Given the description of an element on the screen output the (x, y) to click on. 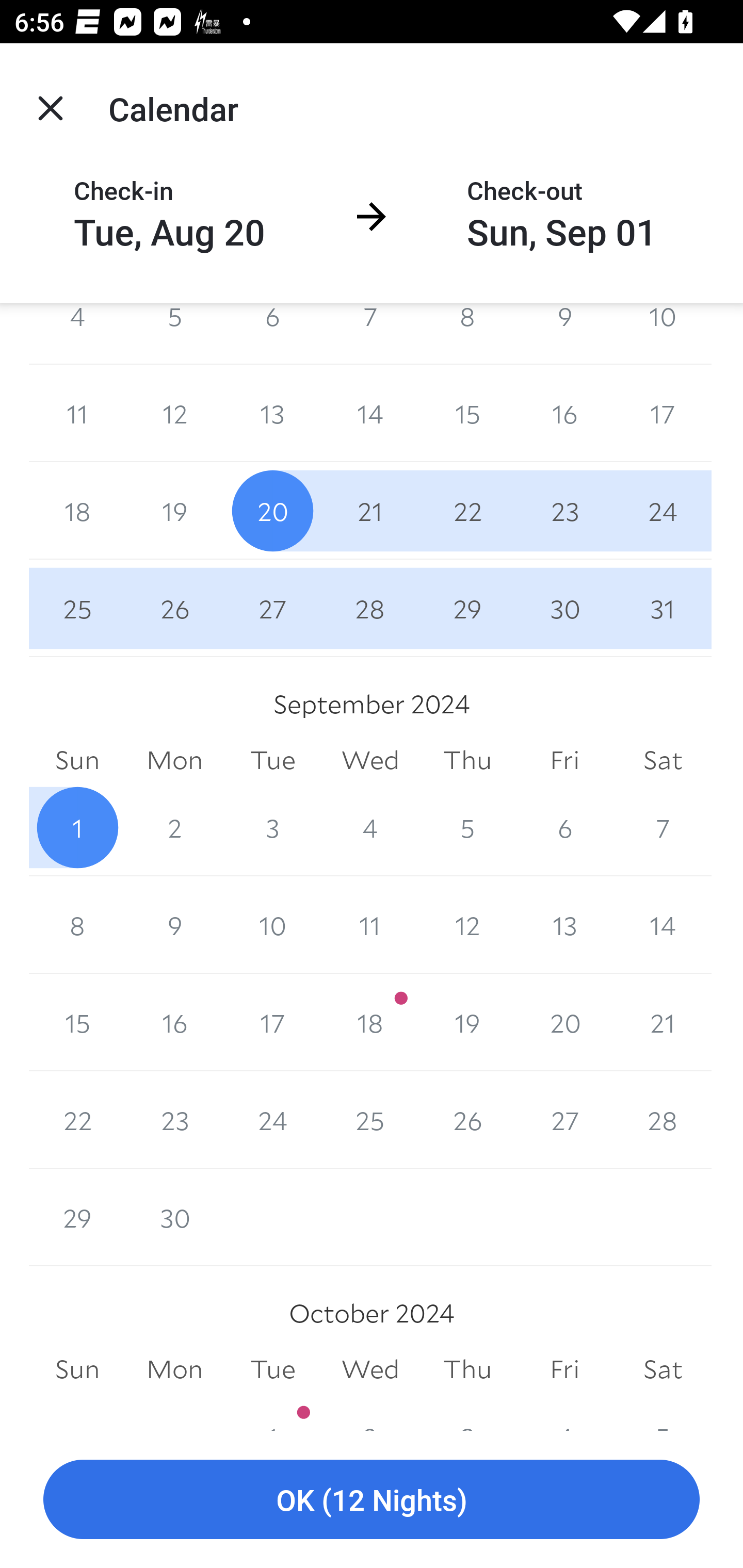
4 4 August 2024 (77, 333)
5 5 August 2024 (174, 333)
6 6 August 2024 (272, 333)
7 7 August 2024 (370, 333)
8 8 August 2024 (467, 333)
9 9 August 2024 (564, 333)
10 10 August 2024 (662, 333)
11 11 August 2024 (77, 413)
12 12 August 2024 (174, 413)
13 13 August 2024 (272, 413)
14 14 August 2024 (370, 413)
15 15 August 2024 (467, 413)
16 16 August 2024 (564, 413)
17 17 August 2024 (662, 413)
18 18 August 2024 (77, 510)
19 19 August 2024 (174, 510)
20 20 August 2024 (272, 510)
21 21 August 2024 (370, 510)
22 22 August 2024 (467, 510)
23 23 August 2024 (564, 510)
24 24 August 2024 (662, 510)
25 25 August 2024 (77, 607)
26 26 August 2024 (174, 607)
27 27 August 2024 (272, 607)
28 28 August 2024 (370, 607)
29 29 August 2024 (467, 607)
30 30 August 2024 (564, 607)
31 31 August 2024 (662, 607)
Sun (77, 760)
Mon (174, 760)
Tue (272, 760)
Wed (370, 760)
Thu (467, 760)
Fri (564, 760)
Sat (662, 760)
1 1 September 2024 (77, 827)
2 2 September 2024 (174, 827)
3 3 September 2024 (272, 827)
4 4 September 2024 (370, 827)
5 5 September 2024 (467, 827)
6 6 September 2024 (564, 827)
7 7 September 2024 (662, 827)
8 8 September 2024 (77, 924)
9 9 September 2024 (174, 924)
10 10 September 2024 (272, 924)
11 11 September 2024 (370, 924)
12 12 September 2024 (467, 924)
13 13 September 2024 (564, 924)
14 14 September 2024 (662, 924)
